Given the description of an element on the screen output the (x, y) to click on. 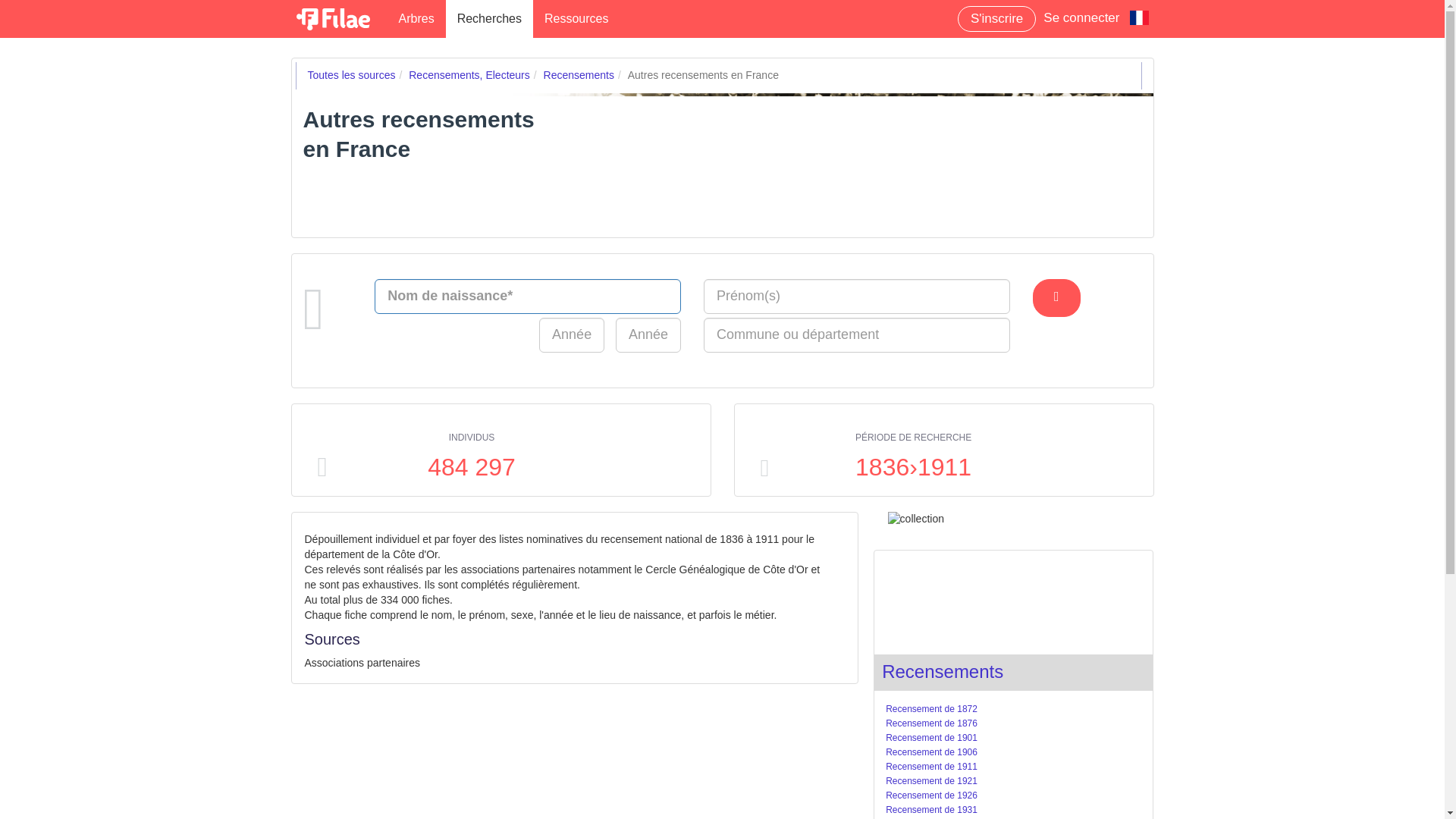
Recensement de 1926 (930, 795)
Recensements (578, 74)
Recensement de 1872 (930, 708)
Recensement de 1906 (930, 751)
Se connecter (1081, 20)
Recensements, Electeurs (469, 74)
Recensement de 1901 (930, 737)
Ressources (576, 18)
Recensement de 1931 (930, 809)
Arbres (416, 18)
Rechercher (1056, 297)
Toutes les sources (351, 74)
Recensement de 1911 (930, 766)
Recensements (942, 670)
Recensement de 1921 (930, 780)
